Given the description of an element on the screen output the (x, y) to click on. 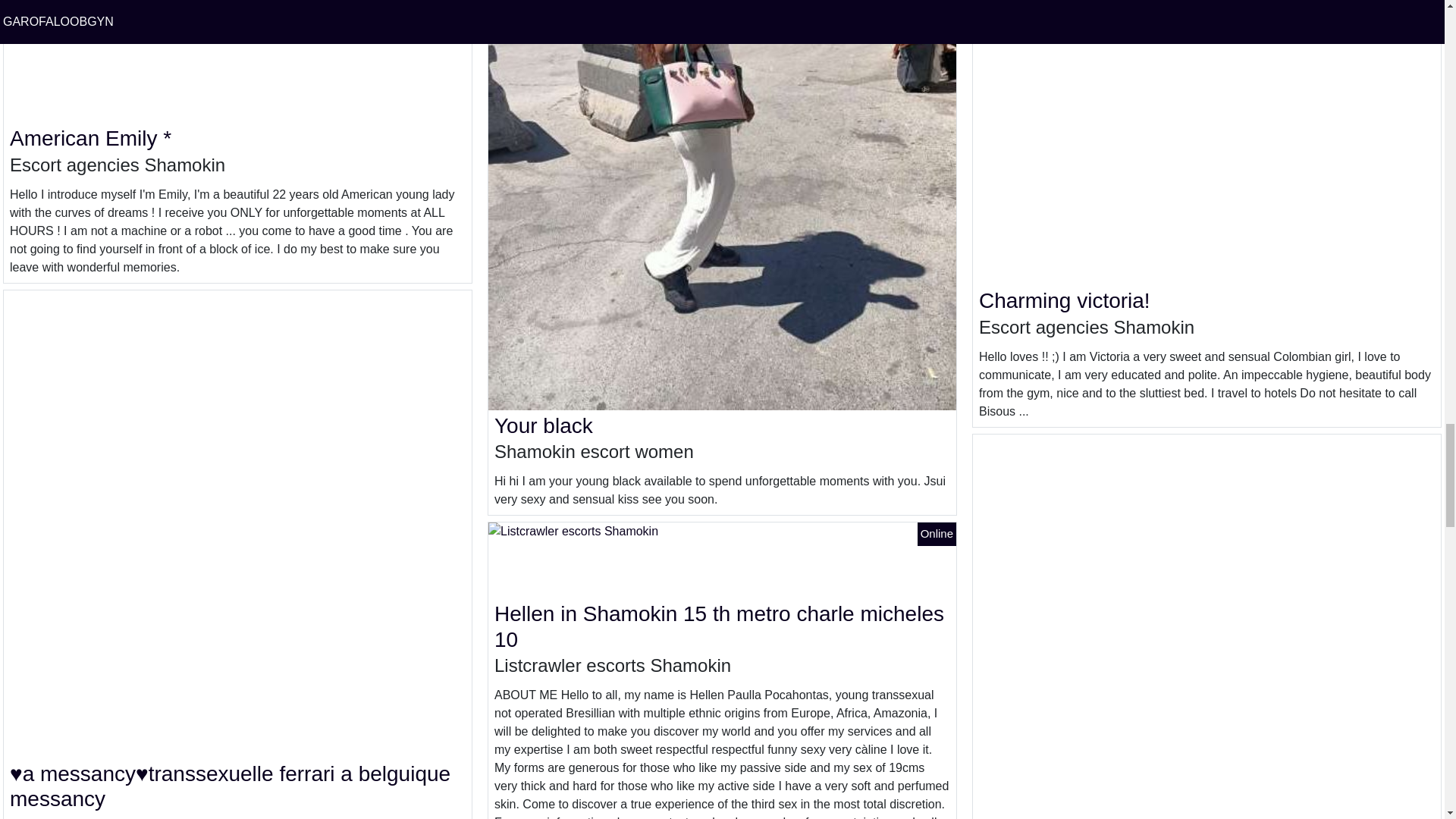
Hellen in Shamokin 15 th metro charle micheles 10 (719, 626)
Your black (543, 425)
